Given the description of an element on the screen output the (x, y) to click on. 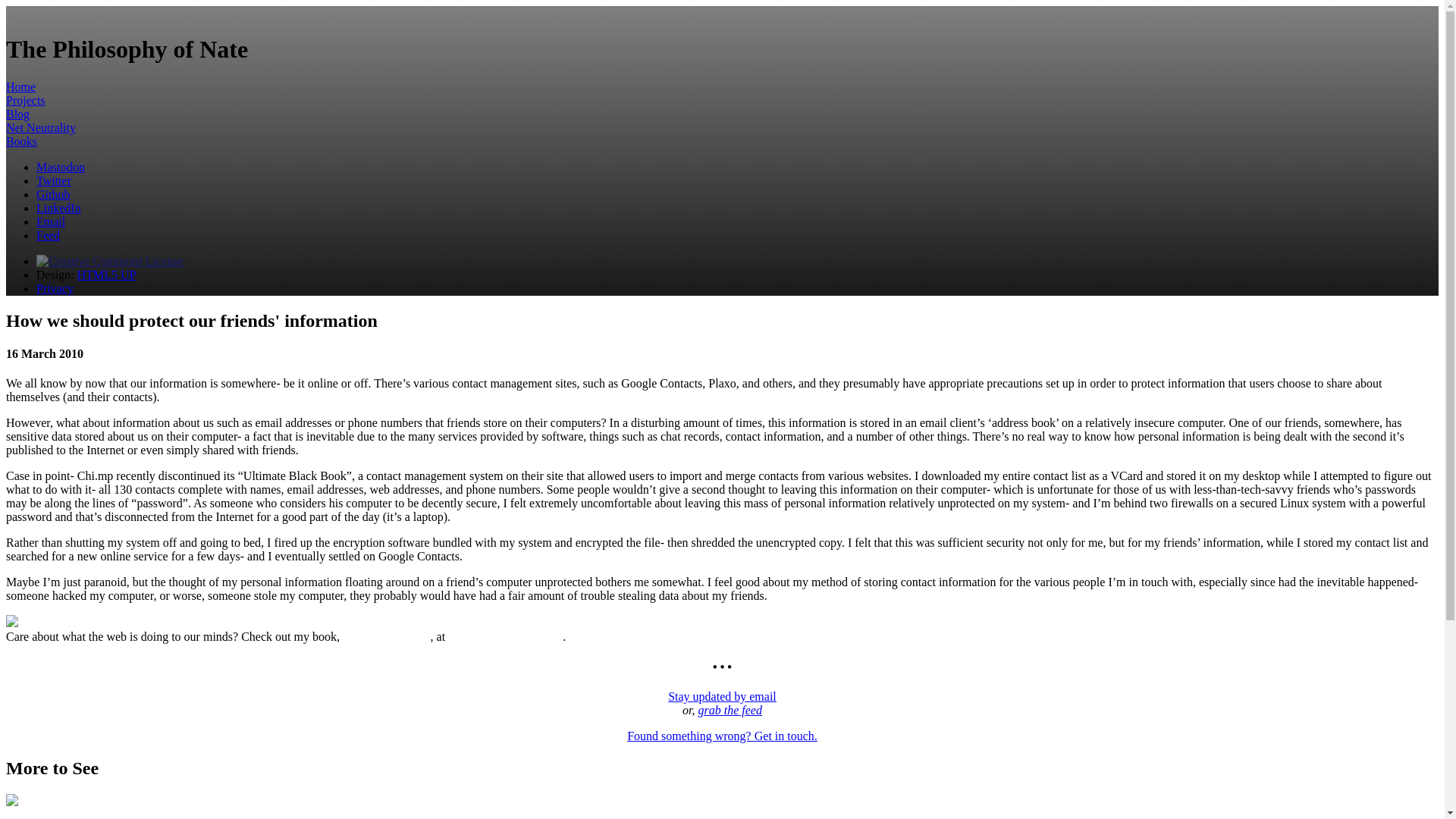
Feed (47, 235)
Books (21, 141)
The Thought Trap (386, 635)
Stay updated by email (722, 696)
Email (50, 221)
grab the feed (729, 709)
Twitter (53, 180)
HTML5 UP (106, 274)
Blog (17, 113)
LinkedIn (58, 207)
Github (52, 194)
Projects (25, 100)
book.thenaterhood.com (505, 635)
Home (19, 86)
Found something wrong? Get in touch. (721, 735)
